Given the description of an element on the screen output the (x, y) to click on. 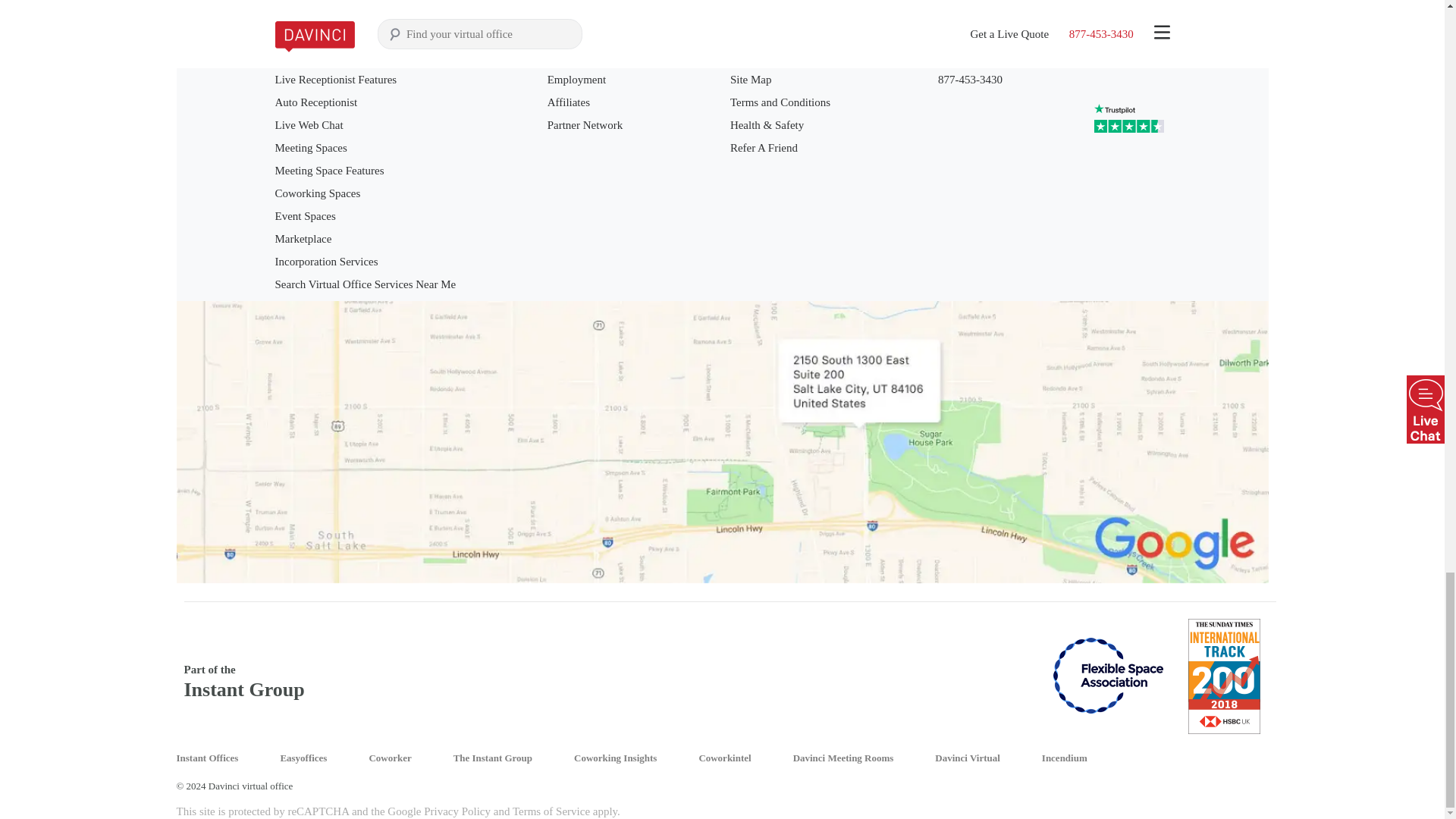
Customer reviews powered by Trustpilot (1131, 121)
